Given the description of an element on the screen output the (x, y) to click on. 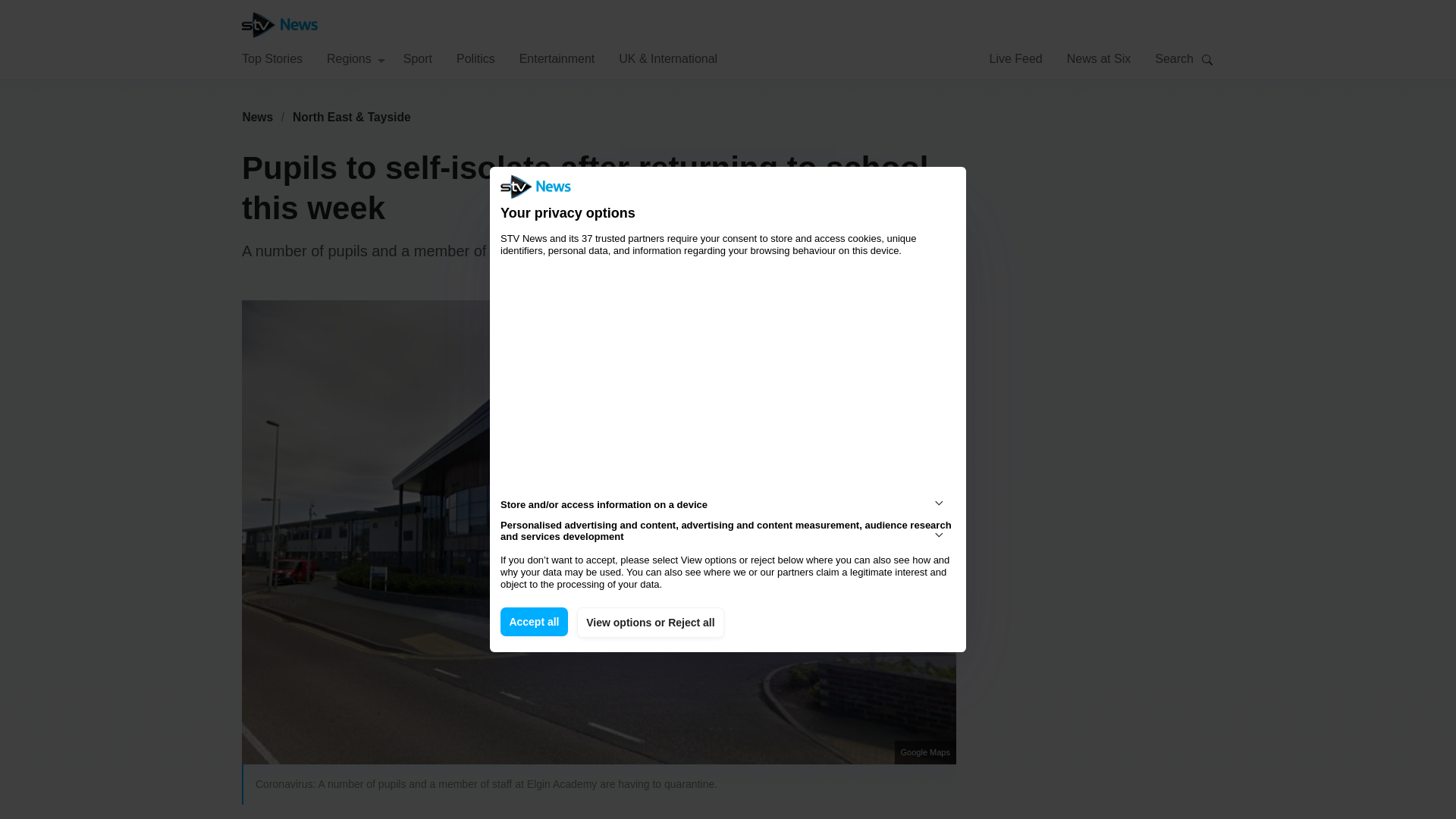
Regions (355, 57)
Politics (476, 57)
News at Six (1099, 57)
Entertainment (557, 57)
Search (1206, 59)
Live Feed (1015, 57)
Top Stories (271, 57)
News (257, 116)
